Given the description of an element on the screen output the (x, y) to click on. 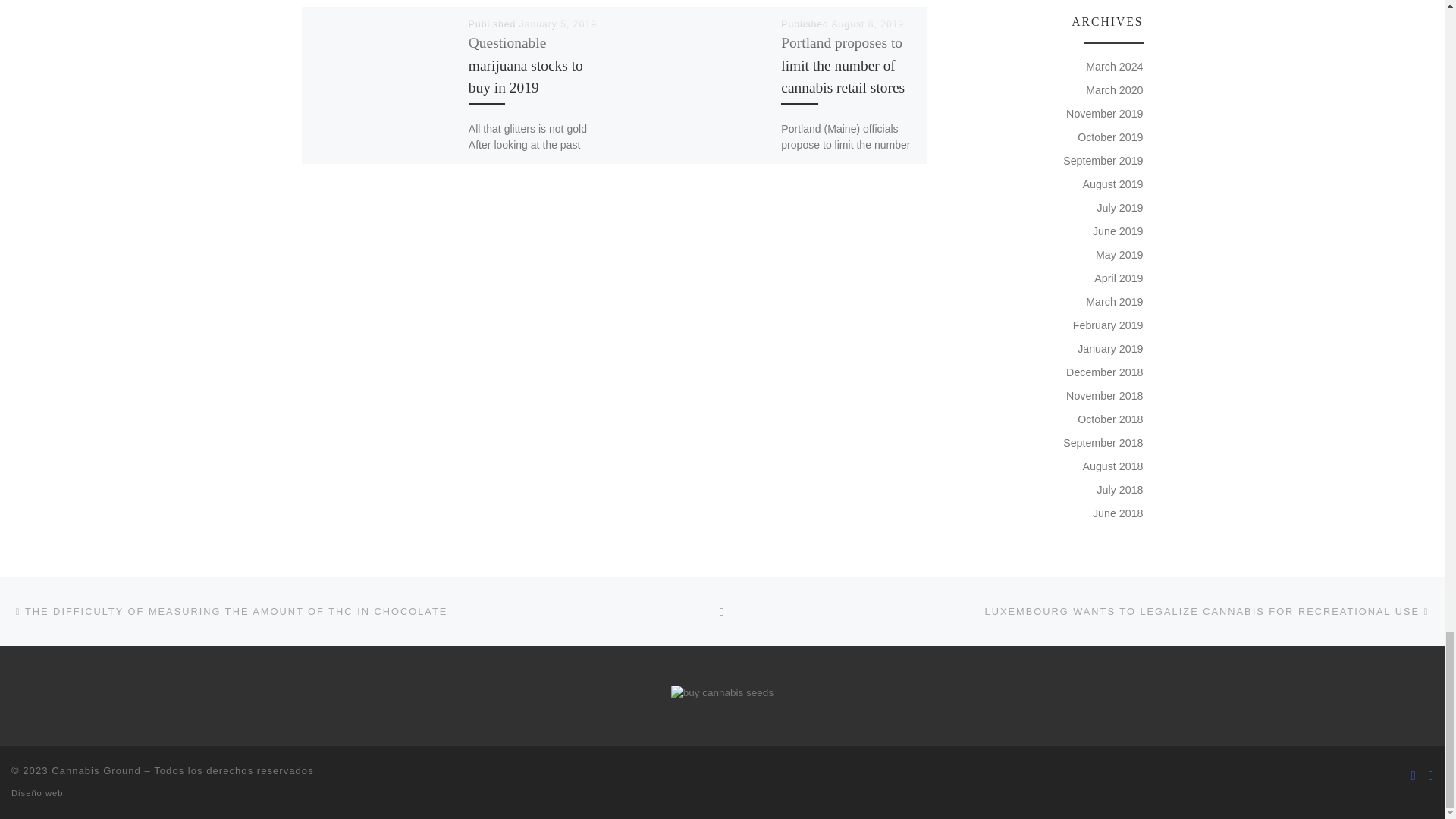
Cannabis Ground (95, 770)
